Given the description of an element on the screen output the (x, y) to click on. 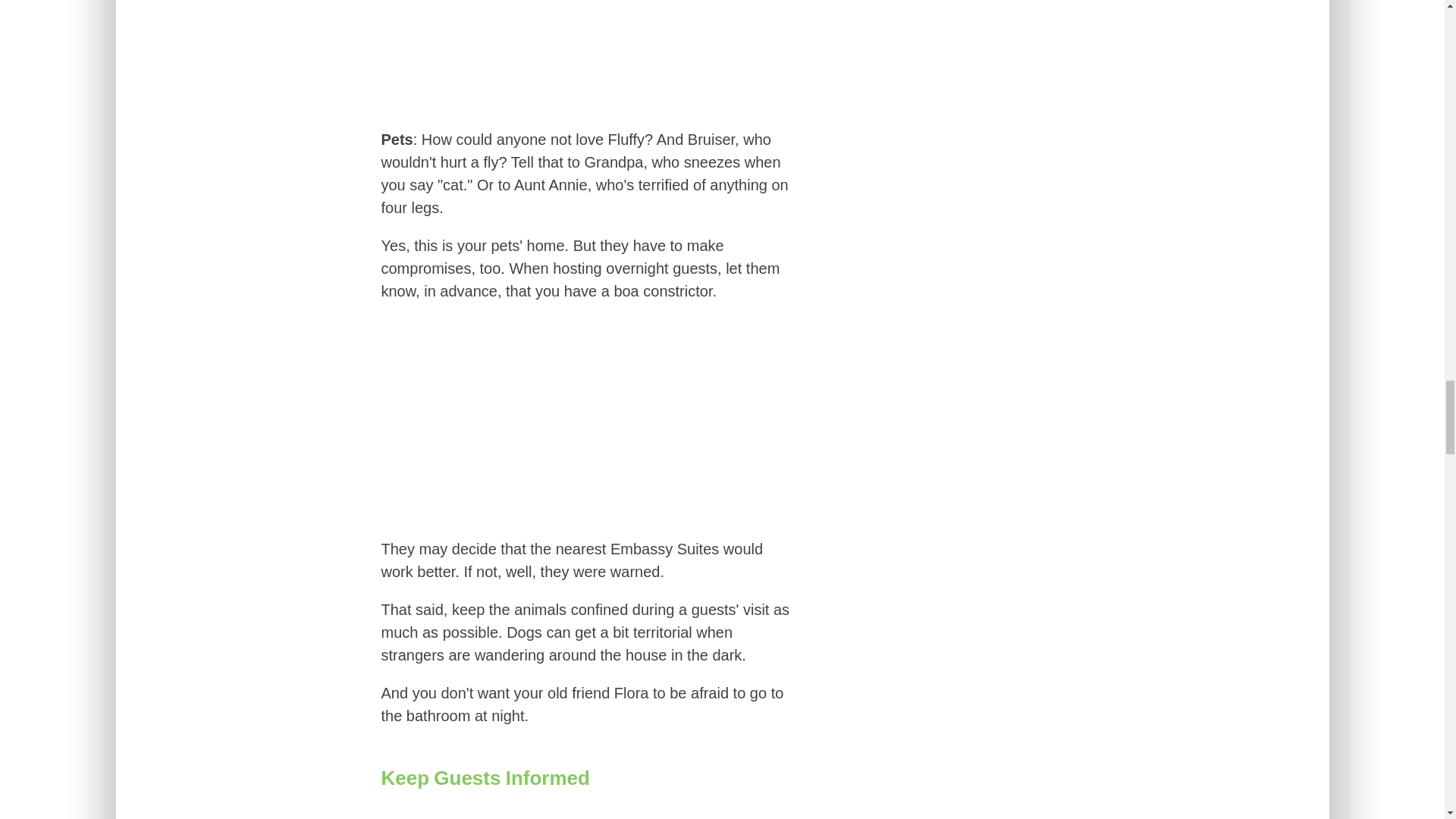
Bulldog in small red sweater. (588, 55)
Go to The Family Pet (588, 105)
